Given the description of an element on the screen output the (x, y) to click on. 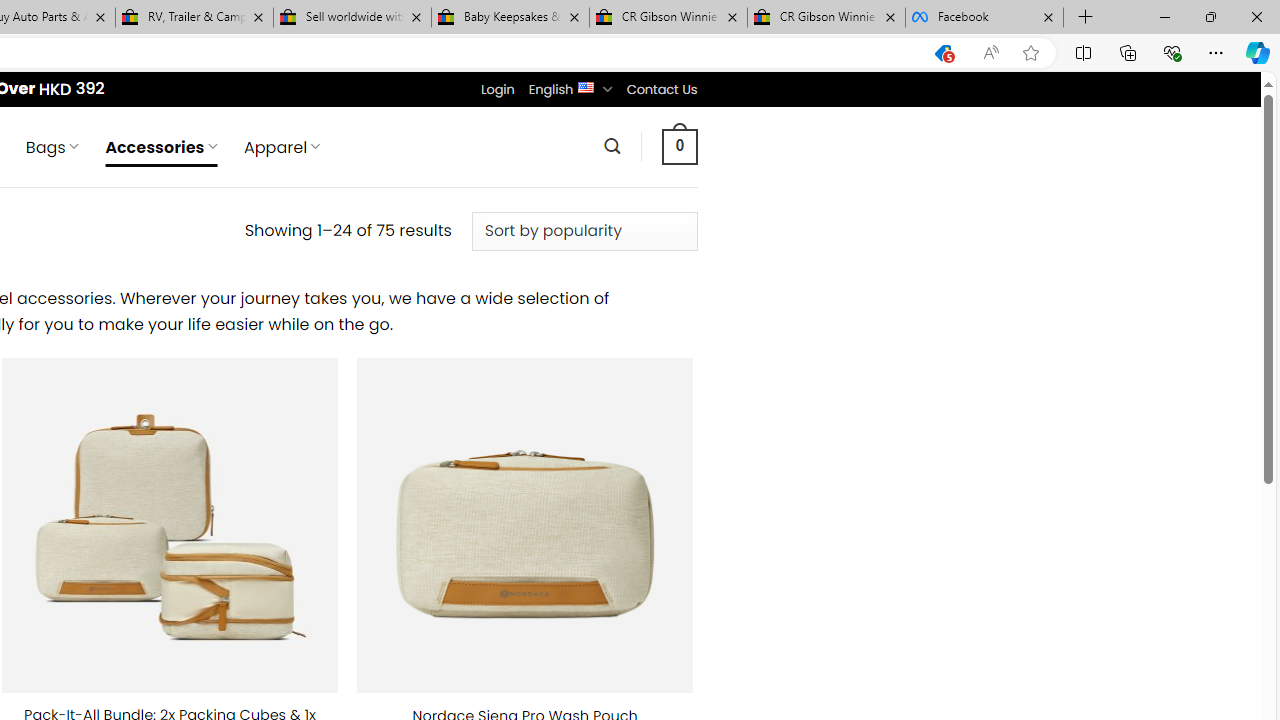
Baby Keepsakes & Announcements for sale | eBay (509, 17)
Facebook (984, 17)
Contact Us (661, 89)
  0   (679, 146)
Contact Us (661, 89)
Login (497, 89)
 0  (679, 146)
Shop order (584, 231)
